Given the description of an element on the screen output the (x, y) to click on. 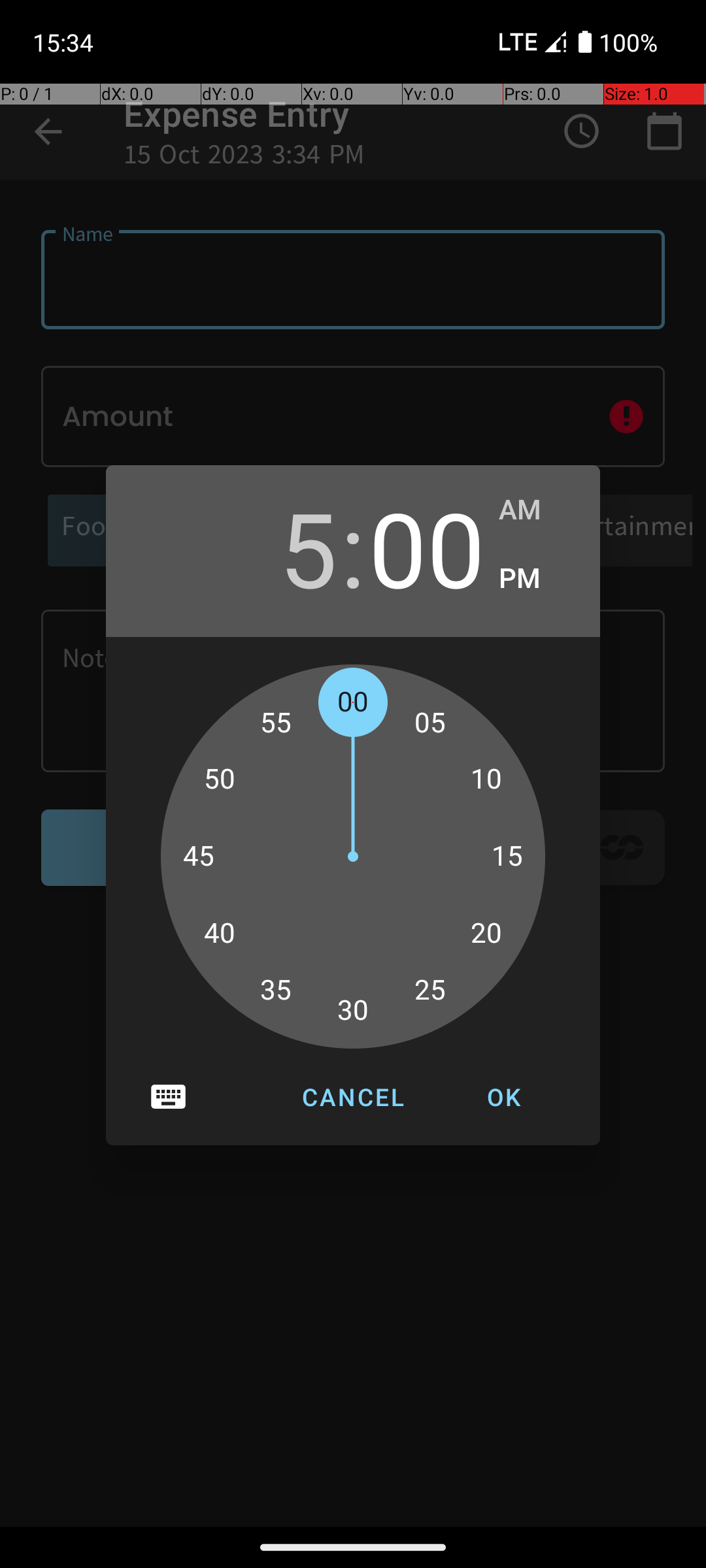
34 Element type: android.widget.RadialTimePickerView$RadialPickerTouchHelper (289, 996)
